Given the description of an element on the screen output the (x, y) to click on. 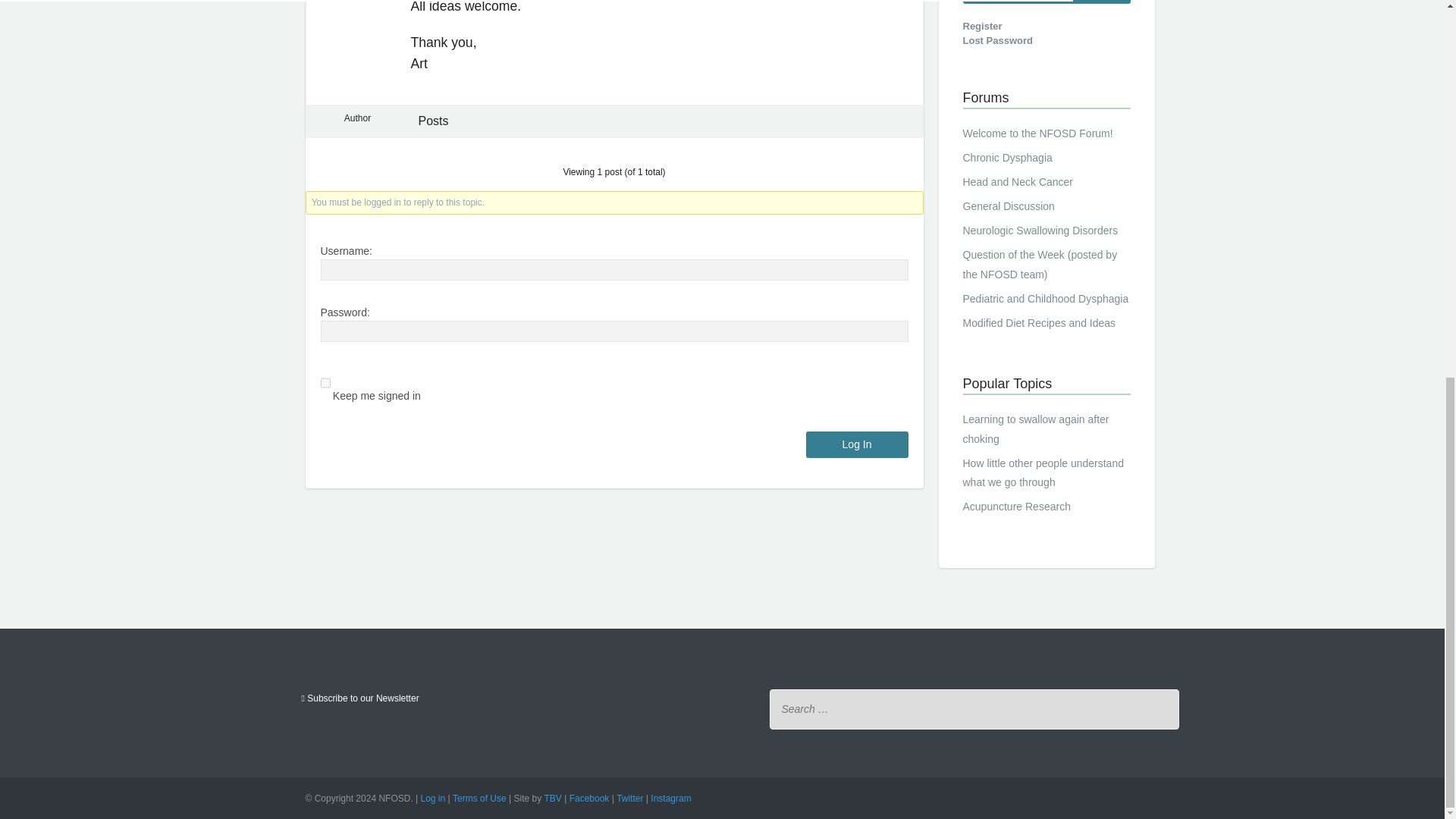
Lost Password (997, 40)
Subscribe (360, 697)
Register (982, 26)
